Given the description of an element on the screen output the (x, y) to click on. 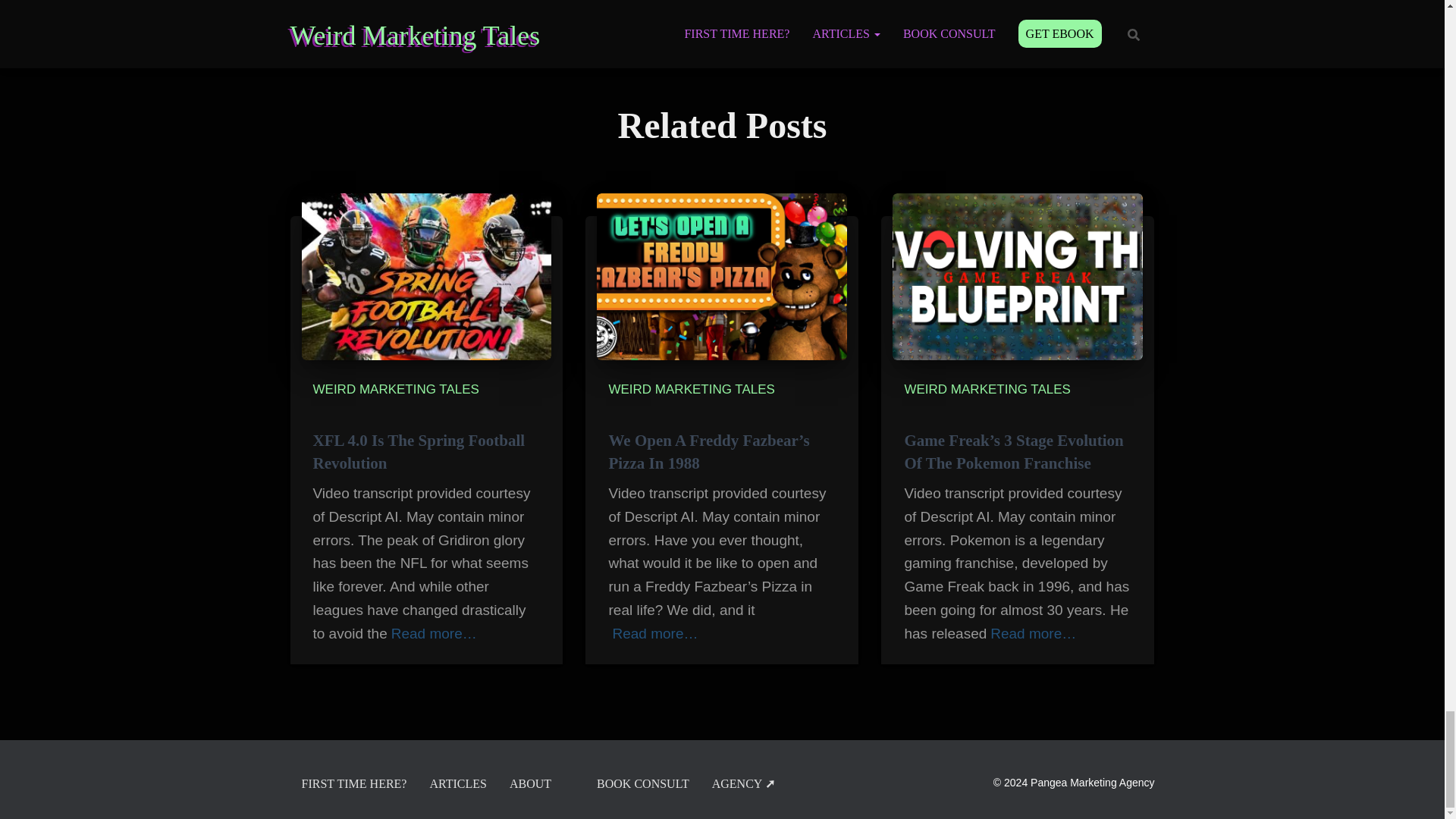
XFL 4.0 Is The Spring Football Revolution (418, 451)
View all posts in Weird Marketing Tales (691, 389)
XFL 4.0 Is The Spring Football Revolution (418, 451)
View all posts in Weird Marketing Tales (396, 389)
XFL 4.0 Is The Spring Football Revolution (426, 275)
WEIRD MARKETING TALES (396, 389)
